Given the description of an element on the screen output the (x, y) to click on. 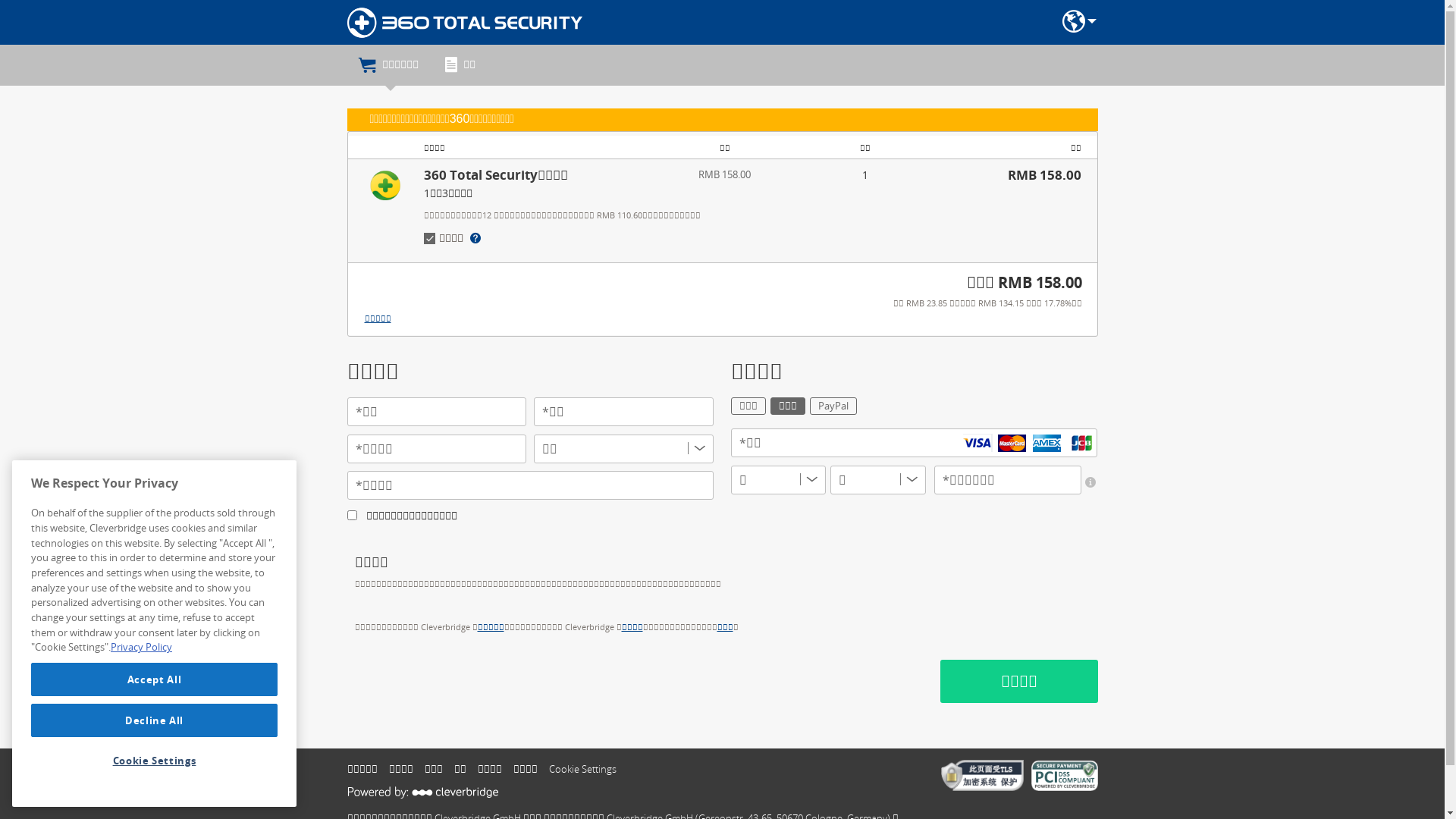
Cookie Settings Element type: text (588, 768)
Decline All Element type: text (154, 720)
CCA Element type: text (795, 402)
PPA Element type: text (847, 402)
Privacy Policy Element type: text (141, 646)
27781 Element type: text (423, 227)
ALI Element type: text (756, 402)
Accept All Element type: text (154, 679)
YES Element type: text (352, 515)
Cookie Settings Element type: text (154, 760)
